Given the description of an element on the screen output the (x, y) to click on. 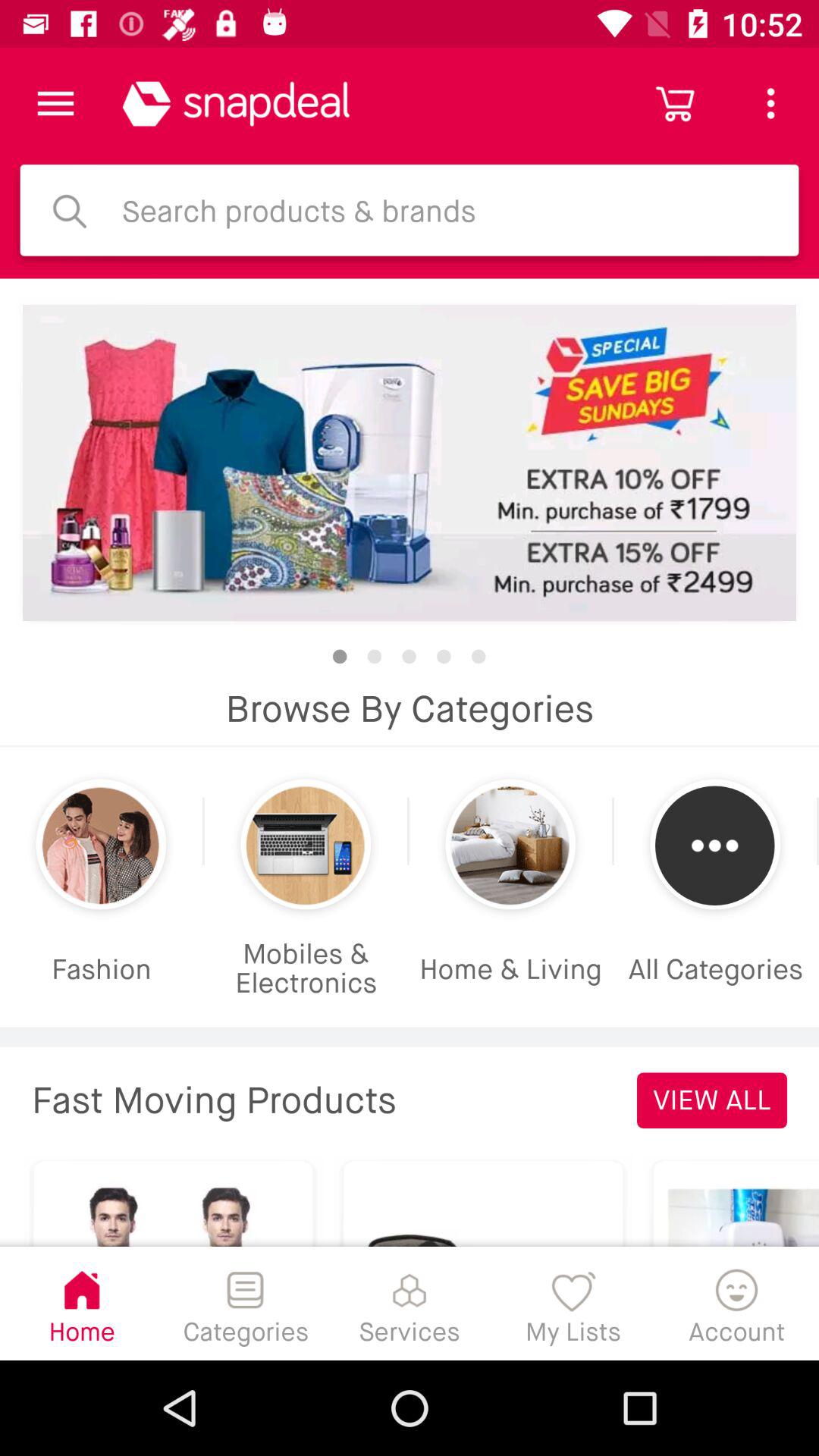
press the icon next to services icon (573, 1303)
